Given the description of an element on the screen output the (x, y) to click on. 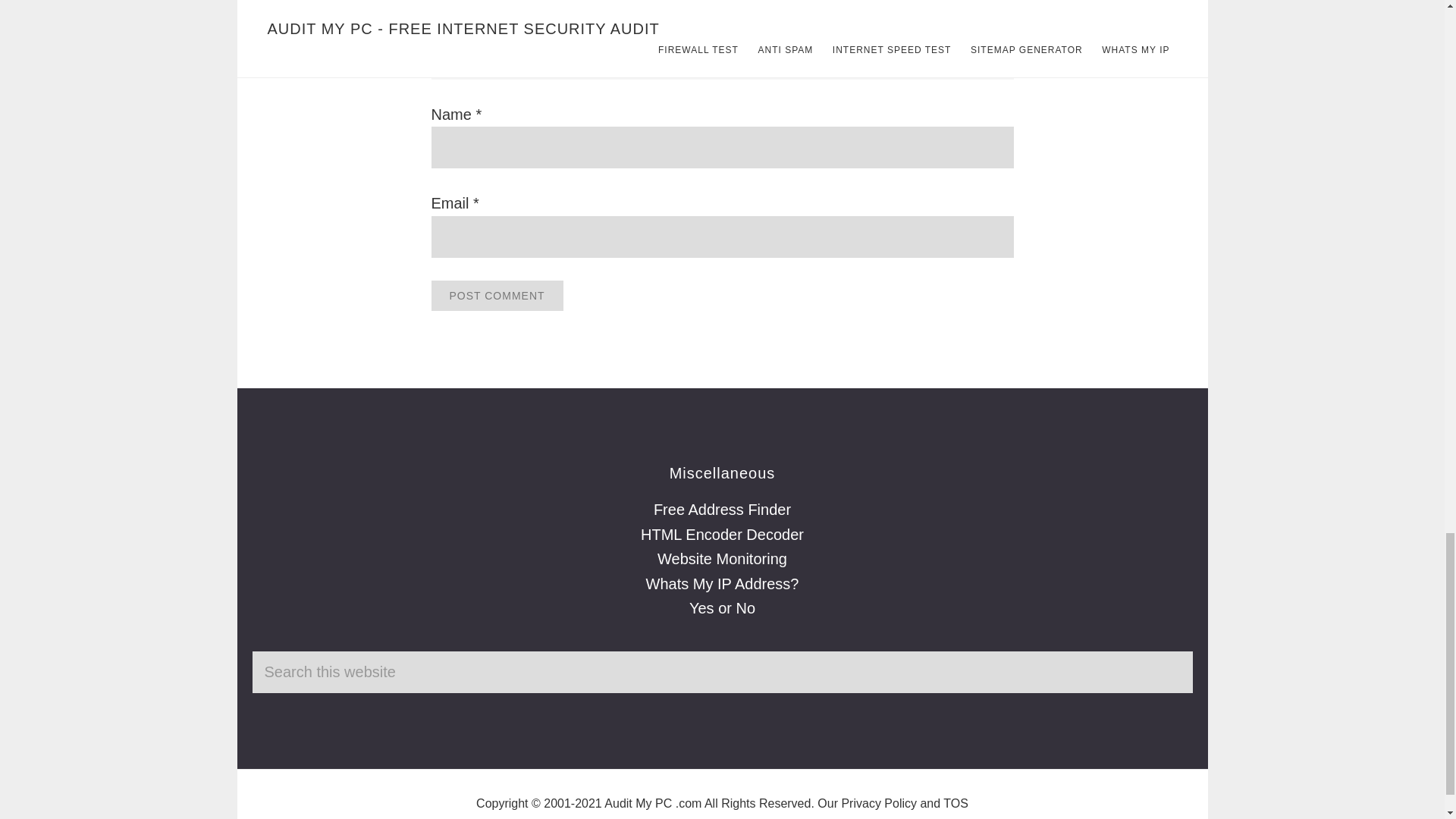
Free Address Finder (721, 509)
Privacy Policy (879, 802)
AuditMyPC.com Terms of Service (955, 802)
Website Monitoring (722, 558)
Post Comment (496, 295)
TOS (955, 802)
Whats My IP Address? (722, 583)
